Given the description of an element on the screen output the (x, y) to click on. 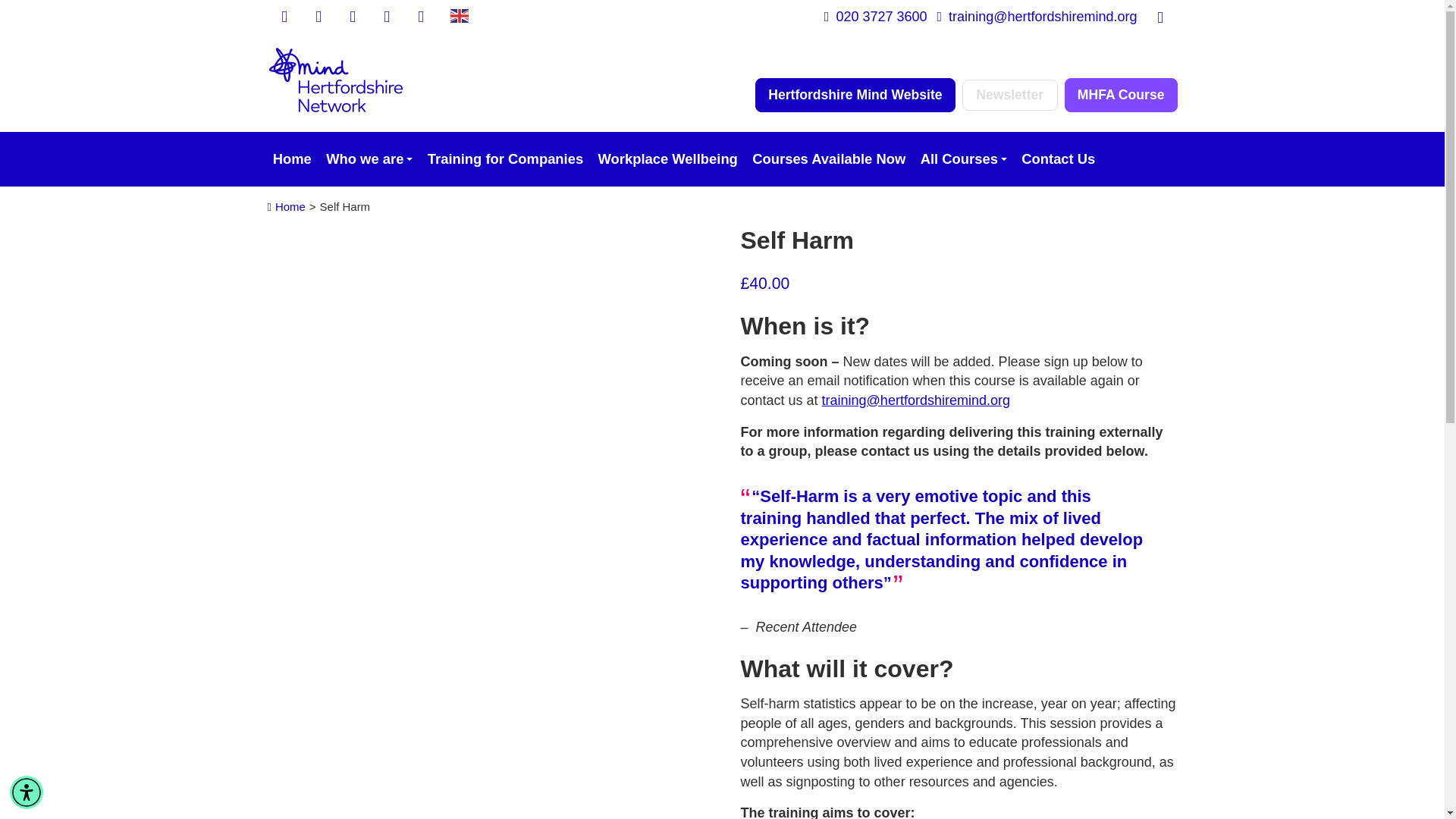
MHFA Course (1120, 94)
LinkedIn (420, 16)
Instagram (351, 16)
X (318, 16)
Workplace Wellbeing (667, 159)
YouTube (386, 16)
Newsletter (1010, 94)
Hertfordshire Mind Website (855, 94)
Who we are (369, 159)
Accessibility Menu (26, 792)
Skip to content (13, 10)
Facebook (283, 16)
Training for Companies (505, 159)
020 3727 3600 (875, 16)
Home (290, 159)
